Given the description of an element on the screen output the (x, y) to click on. 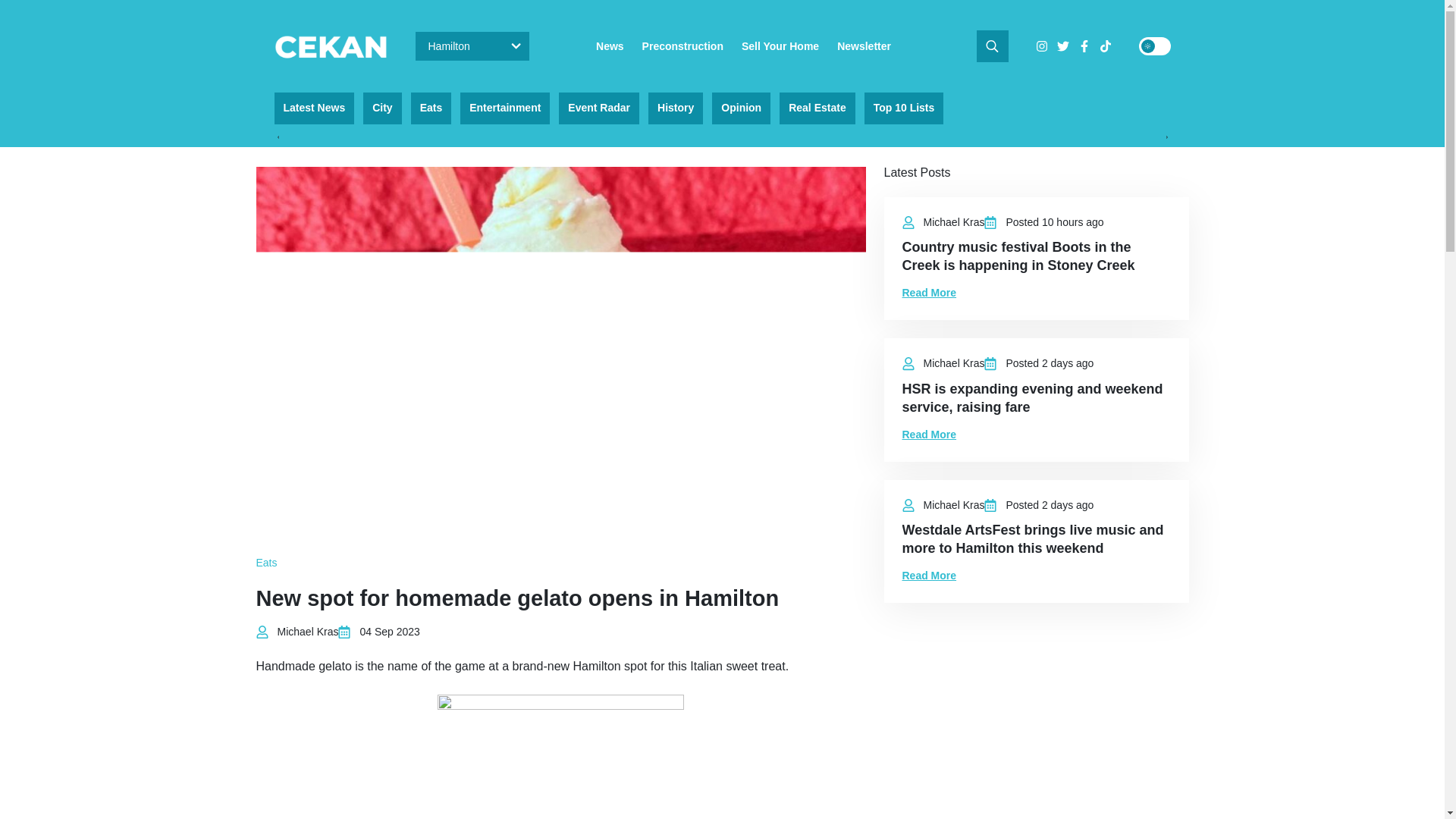
City (381, 107)
Michael Kras (308, 631)
Top 10 Lists (903, 107)
Event Radar (599, 107)
Real Estate (816, 107)
Newsletter (864, 46)
News (609, 46)
Sell Your Home (779, 46)
Entertainment (505, 107)
Opinion (740, 107)
